Given the description of an element on the screen output the (x, y) to click on. 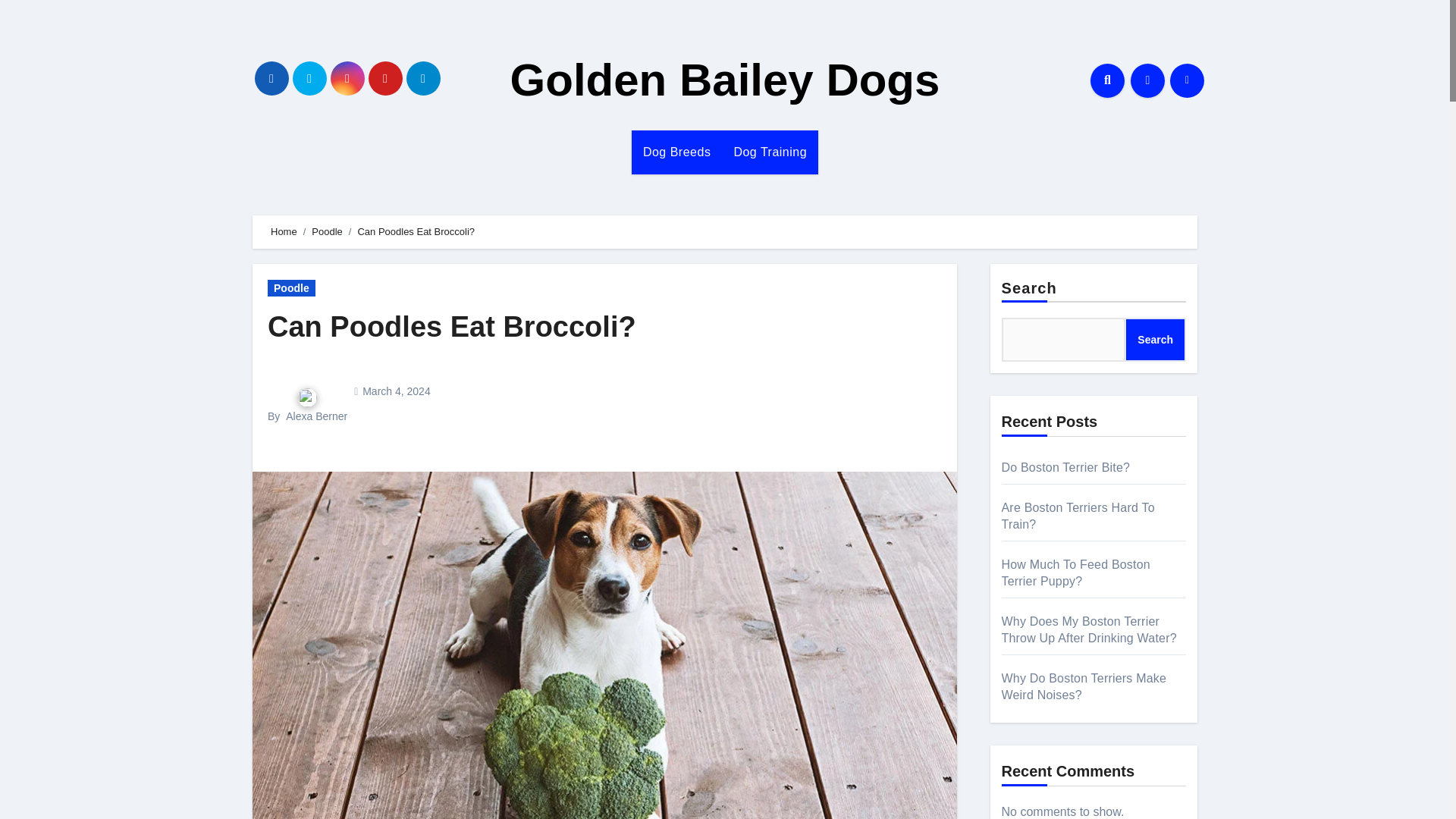
Golden Bailey Dogs (725, 79)
Home (283, 231)
Poodle (326, 231)
Alexa Berner (316, 416)
Can Poodles Eat Broccoli? (451, 327)
Dog Training (770, 152)
Permalink to: Can Poodles Eat Broccoli? (451, 327)
Dog Training (770, 152)
March 4, 2024 (396, 390)
Dog Breeds (676, 152)
Dog Breeds (676, 152)
Poodle (291, 288)
